Given the description of an element on the screen output the (x, y) to click on. 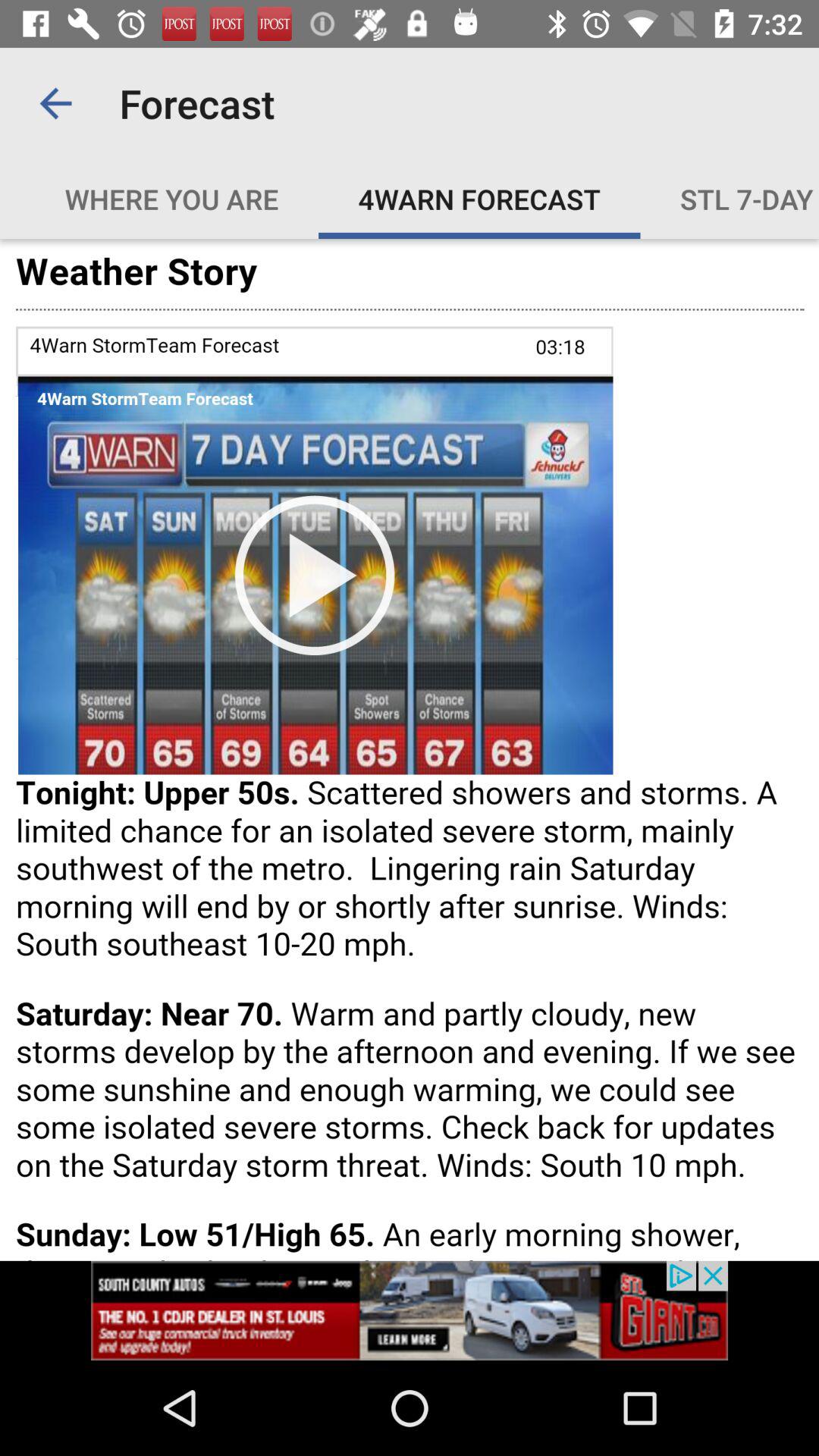
advertisement (409, 1310)
